Given the description of an element on the screen output the (x, y) to click on. 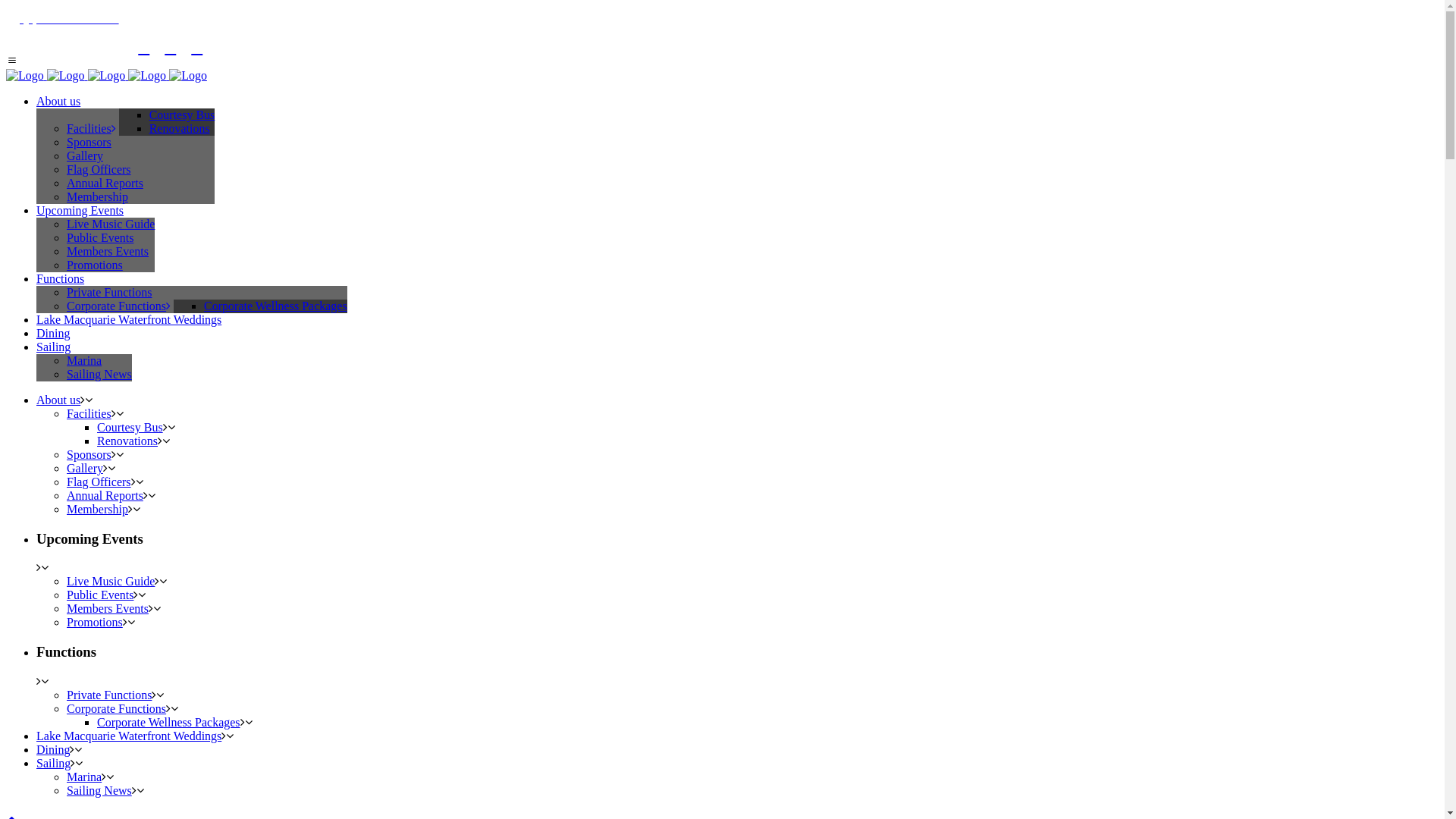
Corporate Functions Element type: text (118, 305)
Gallery Element type: text (84, 155)
Public Events Element type: text (99, 237)
Live Music Guide Element type: text (110, 580)
Promotions Element type: text (94, 264)
Private Functions Element type: text (108, 694)
Flag Officers Element type: text (98, 481)
CONTACT US Element type: text (62, 18)
Lake Macquarie Waterfront Weddings Element type: text (128, 319)
Marina Element type: text (83, 360)
Courtesy Bus Element type: text (130, 426)
Annual Reports Element type: text (104, 182)
Sailing Element type: text (53, 346)
Facilities Element type: text (88, 413)
Sponsors Element type: text (88, 141)
Promotions Element type: text (94, 621)
Membership Element type: text (97, 508)
Functions Element type: text (60, 278)
Corporate Wellness Packages Element type: text (275, 305)
Live Music Guide Element type: text (110, 223)
Renovations Element type: text (127, 440)
Annual Reports Element type: text (104, 495)
Courtesy Bus Element type: text (182, 114)
Upcoming Events Element type: text (79, 209)
Sponsors Element type: text (88, 454)
Public Events Element type: text (99, 594)
Marina Element type: text (83, 776)
Corporate Functions Element type: text (116, 708)
Dining Element type: text (52, 332)
Lake Macquarie Waterfront Weddings Element type: text (128, 735)
Membership Element type: text (97, 196)
Dining Element type: text (52, 749)
Private Functions Element type: text (108, 291)
Corporate Wellness Packages Element type: text (168, 721)
Sailing Element type: text (53, 762)
Members Events Element type: text (107, 608)
Flag Officers Element type: text (98, 169)
Sailing News Element type: text (98, 790)
Members Events Element type: text (107, 250)
Facilities Element type: text (91, 128)
About us Element type: text (58, 399)
Sailing News Element type: text (98, 373)
Renovations Element type: text (179, 128)
About us Element type: text (58, 100)
Gallery Element type: text (84, 467)
